Given the description of an element on the screen output the (x, y) to click on. 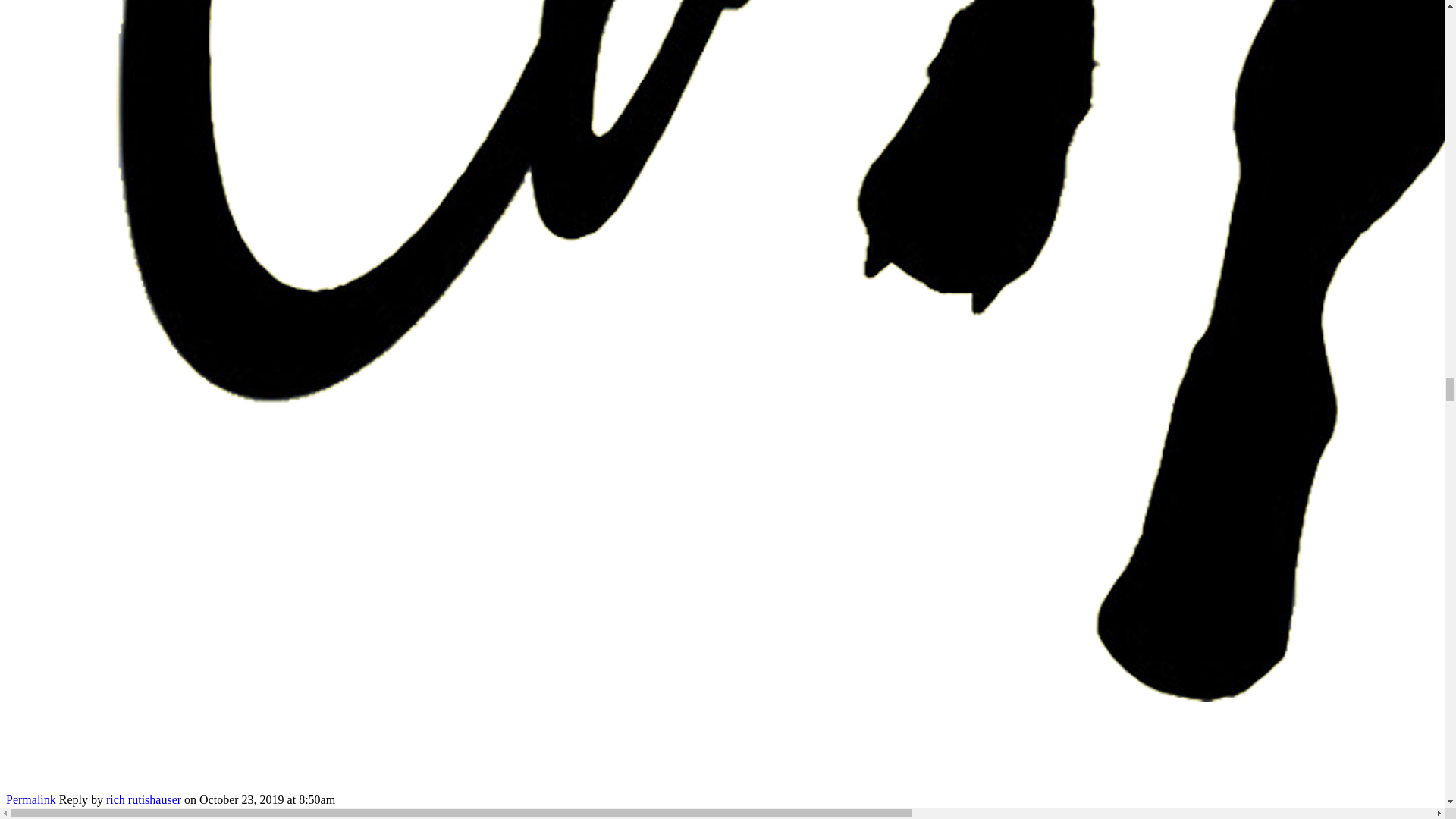
Permalink to this Reply (30, 799)
